Given the description of an element on the screen output the (x, y) to click on. 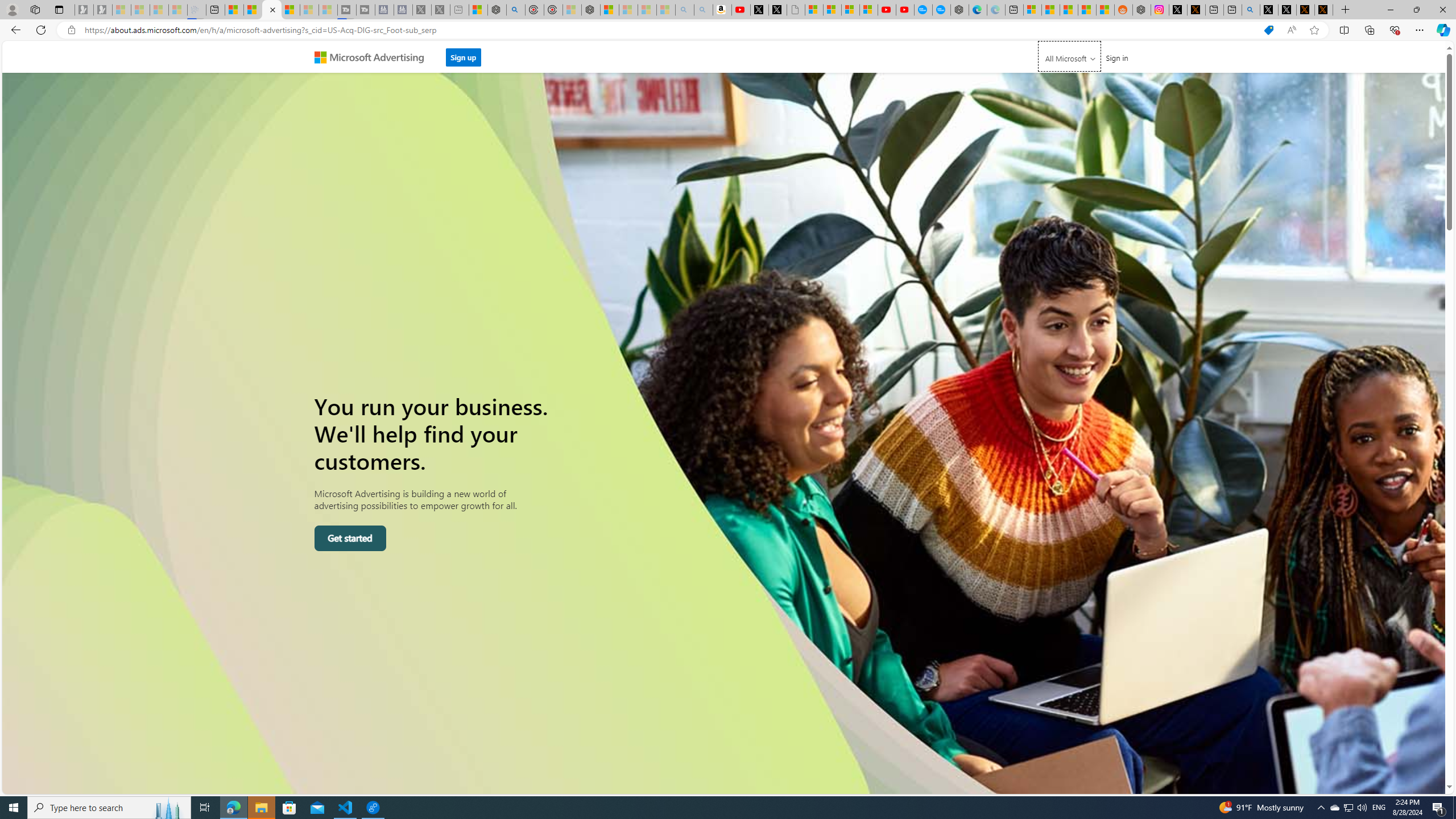
Streaming Coverage | T3 - Sleeping (347, 9)
X Privacy Policy (1324, 9)
Sign in (1116, 57)
github - Search (1251, 9)
GitHub (@github) / X (1287, 9)
The most popular Google 'how to' searches (941, 9)
